Given the description of an element on the screen output the (x, y) to click on. 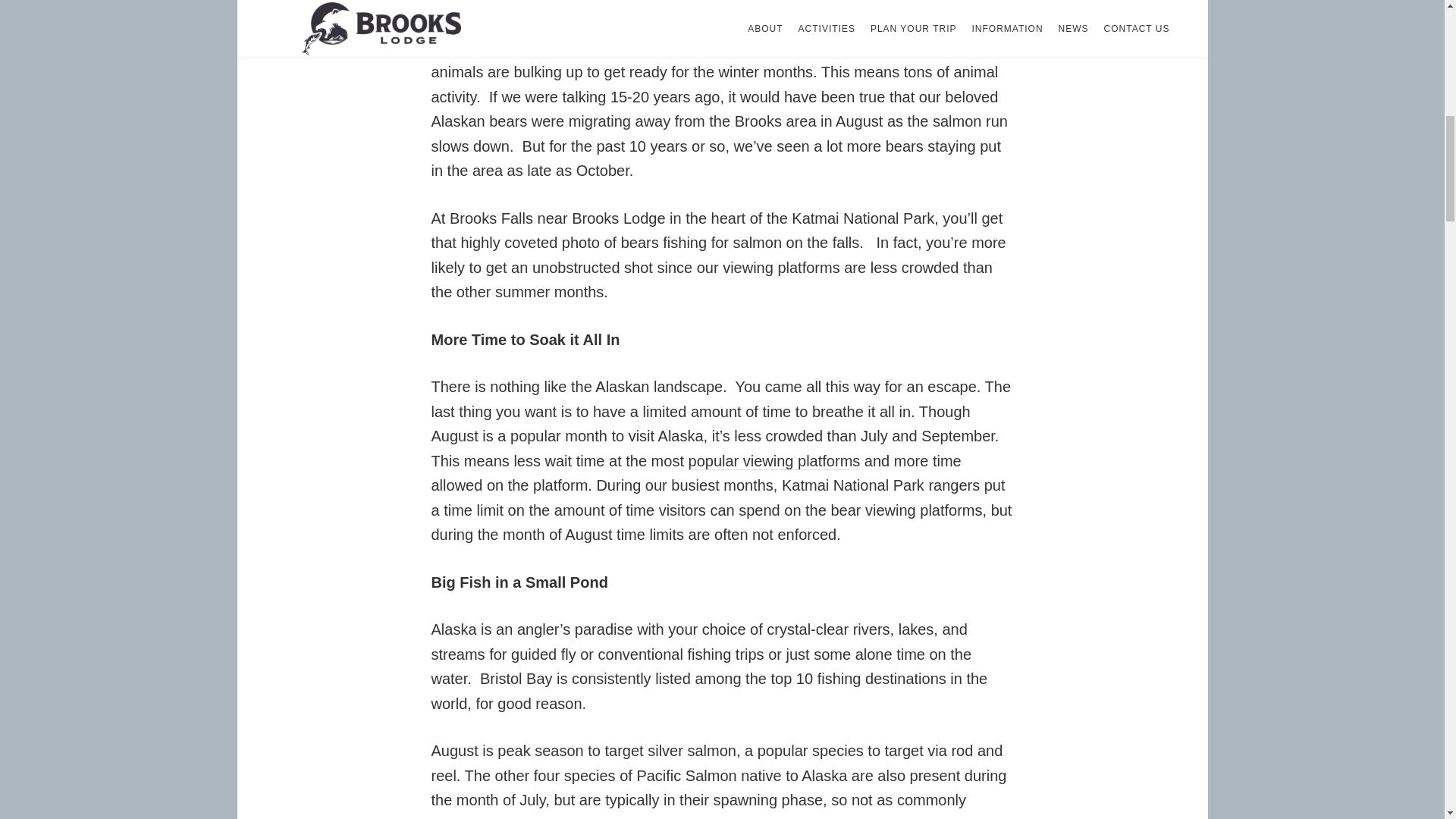
popular viewing platforms (774, 461)
wildlife viewing (833, 22)
